Given the description of an element on the screen output the (x, y) to click on. 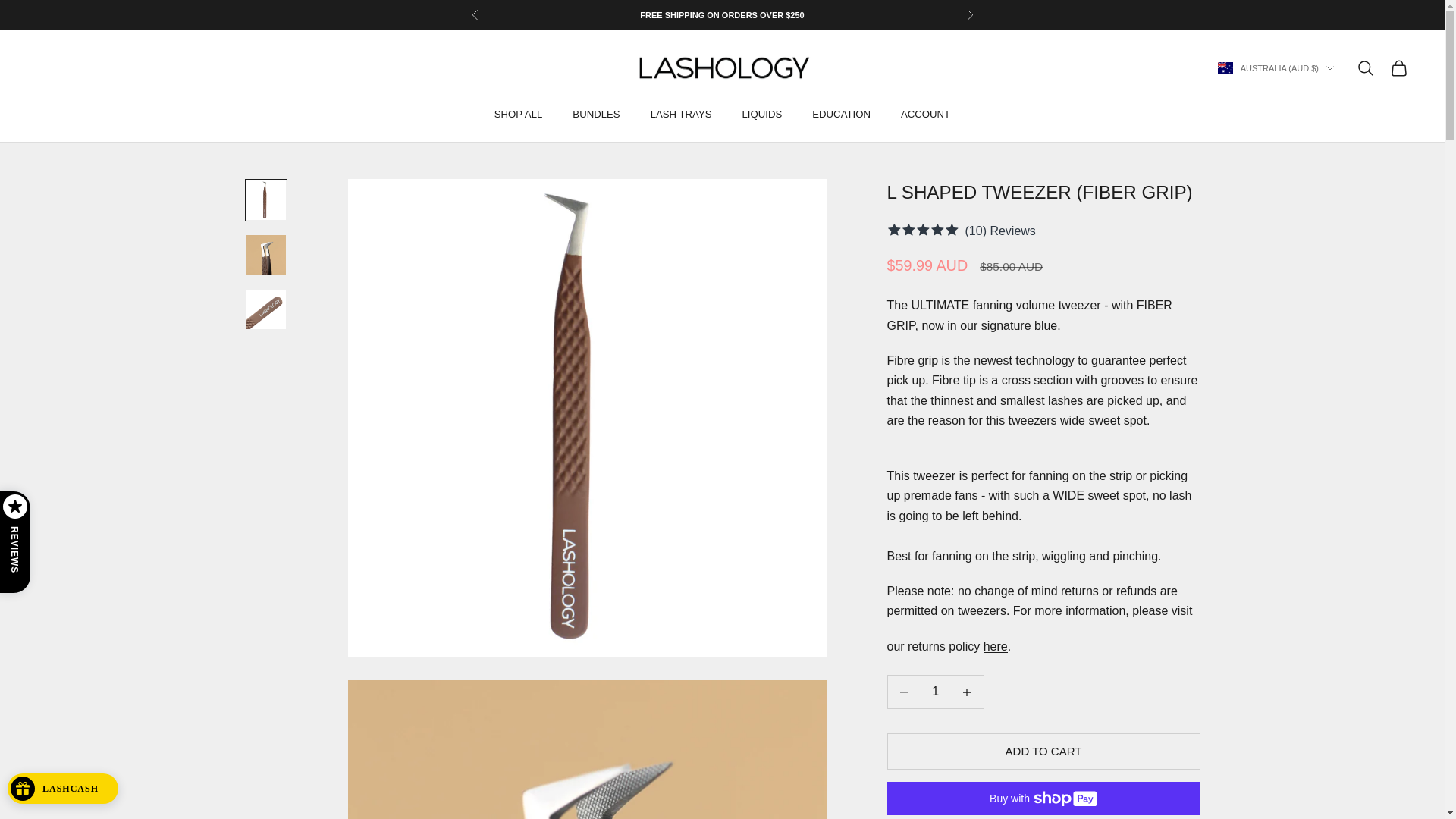
Melbourne Lash and Co (721, 67)
Open cart (1398, 67)
here (995, 645)
LASH TRAYS (680, 114)
LIQUIDS (762, 114)
Open search (1365, 67)
1 (935, 691)
BUNDLES (596, 114)
